Given the description of an element on the screen output the (x, y) to click on. 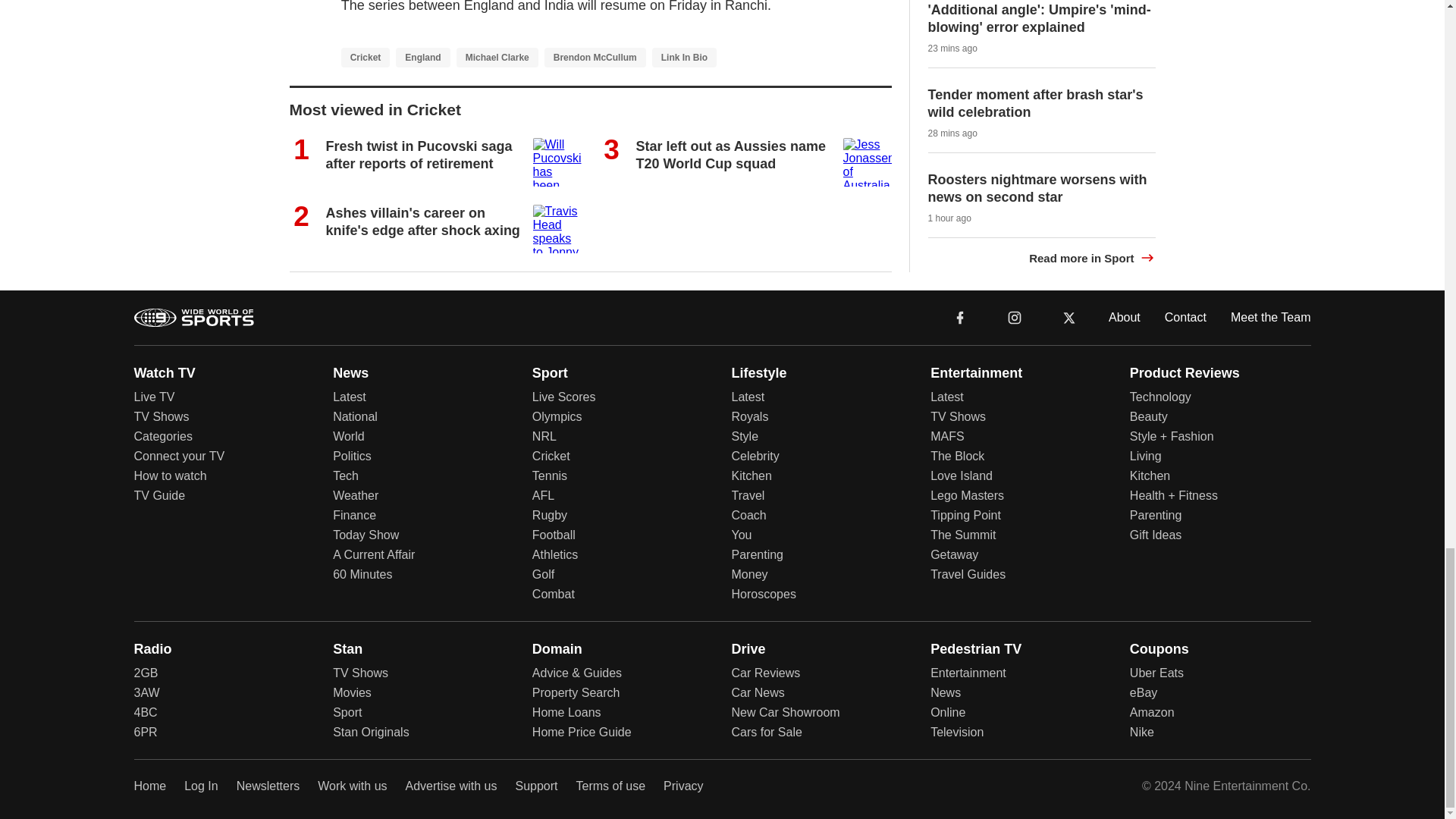
Michael Clarke (497, 56)
England (422, 56)
facebook (959, 316)
x (1069, 317)
x (1069, 316)
Cricket (365, 56)
instagram (1014, 317)
Link In Bio (684, 56)
instagram (1013, 316)
Brendon McCullum (595, 56)
